Given the description of an element on the screen output the (x, y) to click on. 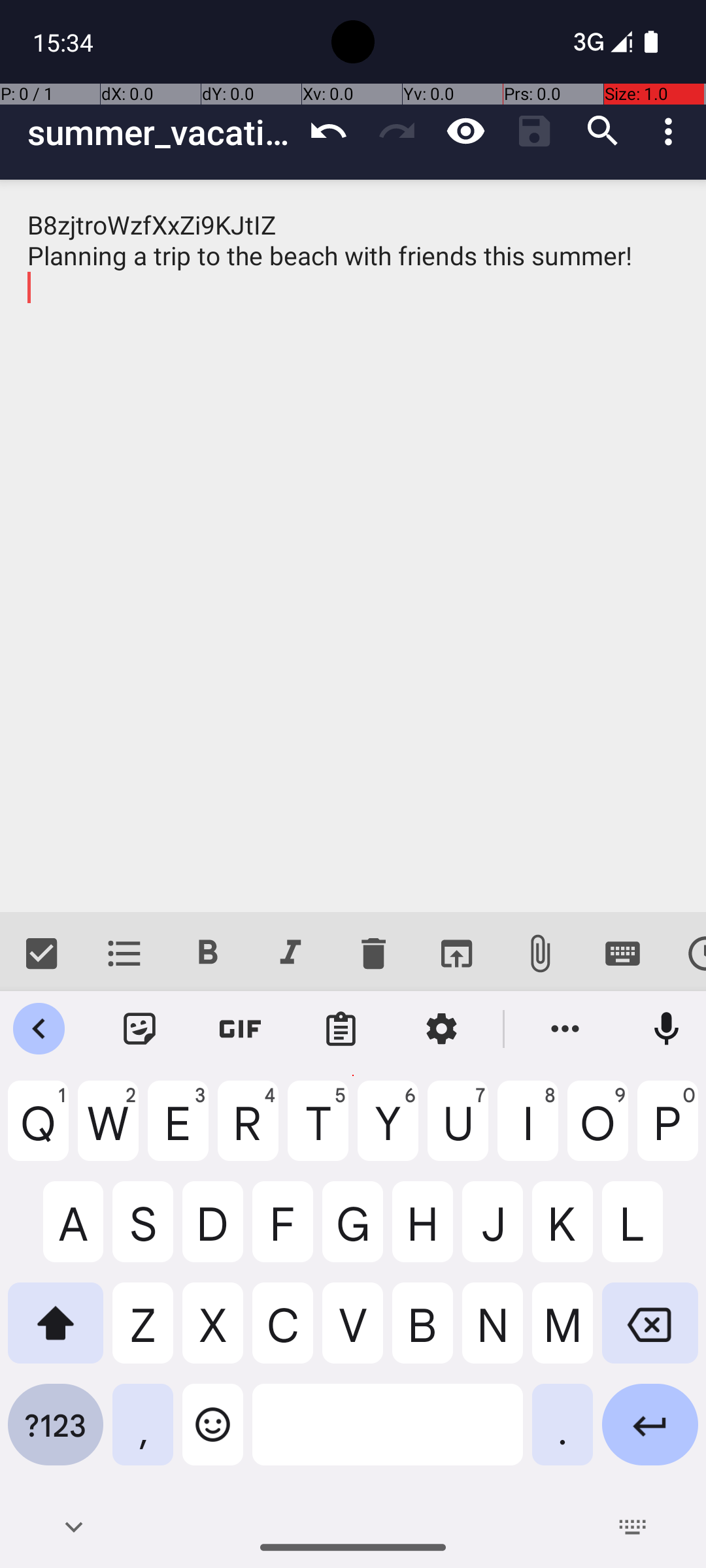
summer_vacation_plans_HRXn Element type: android.widget.TextView (160, 131)
B8zjtroWzfXxZi9KJtIZ
Planning a trip to the beach with friends this summer!
 Element type: android.widget.EditText (353, 545)
